Given the description of an element on the screen output the (x, y) to click on. 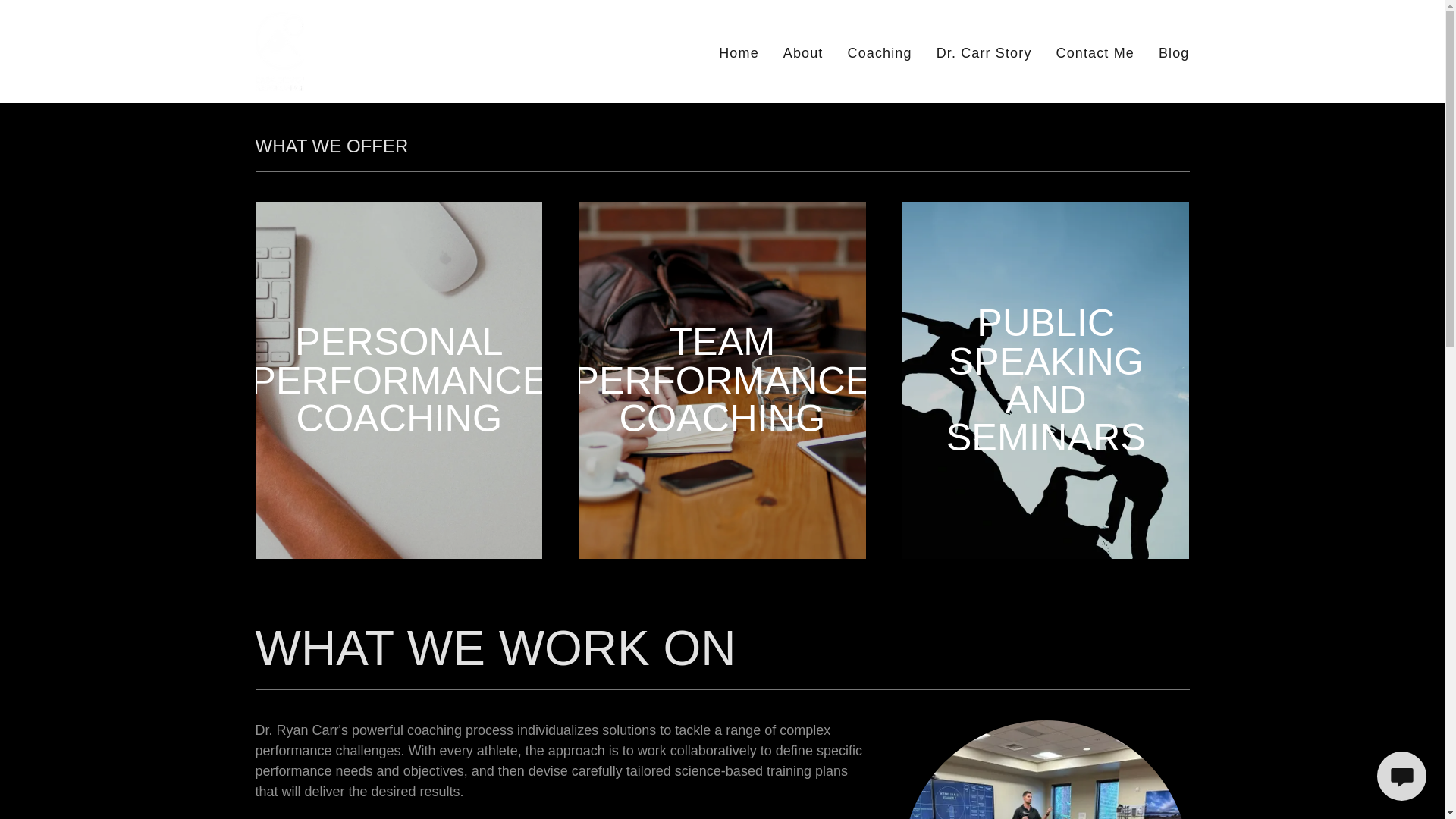
Carr Driven Performance (279, 50)
Coaching (879, 55)
About (803, 52)
Blog (1173, 52)
Contact Me (1094, 52)
Dr. Carr Story (983, 52)
Home (738, 52)
